Given the description of an element on the screen output the (x, y) to click on. 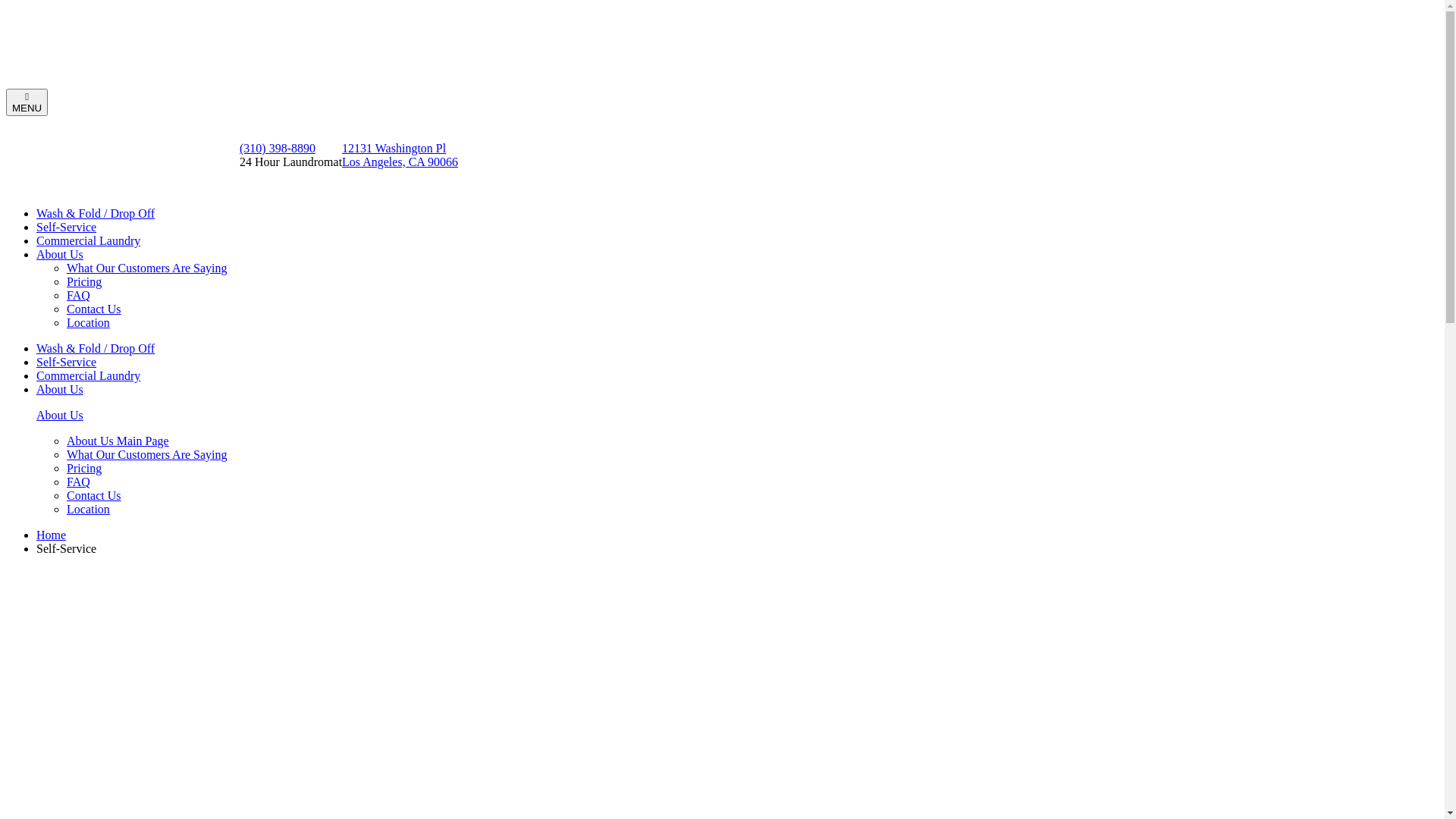
Wash & Fold / Drop Off Element type: text (95, 213)
Commercial Laundry Element type: text (88, 375)
What Our Customers Are Saying Element type: text (146, 454)
Wash & Fold / Drop Off Element type: text (95, 348)
About Us Element type: text (59, 414)
Pricing Element type: text (83, 467)
Commercial Laundry Element type: text (88, 240)
FAQ Element type: text (78, 294)
What Our Customers Are Saying Element type: text (146, 267)
About Us Element type: text (59, 388)
FAQ Element type: text (78, 481)
Self-Service Element type: text (66, 226)
Location Element type: text (87, 508)
Home Element type: text (50, 534)
About Us Element type: text (59, 253)
Contact Us Element type: text (93, 495)
Pricing Element type: text (83, 281)
(310) 398-8890 Element type: text (277, 147)
Self-Service Element type: text (66, 361)
About Us Main Page Element type: text (117, 440)
Location Element type: text (87, 322)
12131 Washington Pl
Los Angeles, CA 90066 Element type: text (400, 155)
Contact Us Element type: text (93, 308)
